Given the description of an element on the screen output the (x, y) to click on. 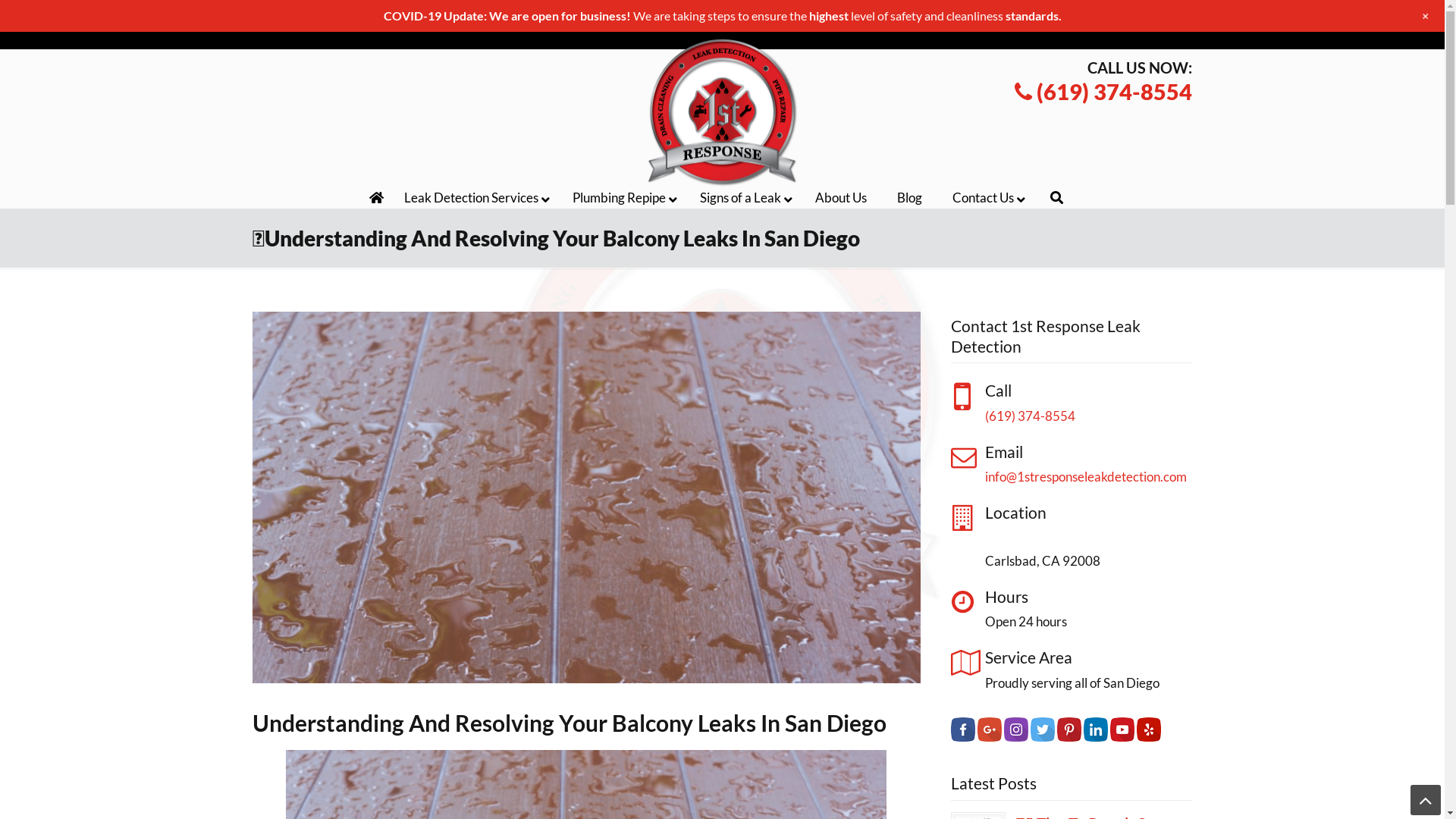
Yelp Element type: hover (1148, 729)
Request Service Element type: text (762, 16)
(619) 374-8554 Element type: text (1030, 415)
info@1stresponseleakdetection.com Element type: text (1085, 476)
YouTube Element type: hover (1153, 25)
Pinterest Element type: hover (1069, 729)
Yelp Element type: hover (1148, 736)
Pinterest Element type: hover (1125, 17)
Google Pages Element type: hover (1044, 25)
Google Pages Element type: hover (989, 736)
Twitter Element type: hover (1099, 25)
YouTube Element type: hover (1153, 17)
Plumbing Repipe Element type: text (620, 197)
Google Pages Element type: hover (1044, 17)
LinkedIn Element type: hover (1095, 729)
Instagram Element type: hover (1072, 17)
Twitter Element type: hover (1099, 17)
Pinterest Element type: hover (1125, 25)
Facebook Element type: hover (962, 736)
info@1stresponseleakdetection.com Element type: text (499, 16)
About Us Element type: text (840, 197)
Instagram Element type: hover (1016, 729)
Leak Detection Services Element type: text (473, 197)
Contact Us Element type: text (984, 197)
Twitter Element type: hover (1042, 729)
Blog Element type: text (909, 197)
Pinterest Element type: hover (1069, 736)
FAQs Element type: text (822, 16)
Facebook Element type: hover (1018, 17)
YouTube Element type: hover (1122, 729)
(619) 374-8554 Element type: text (1103, 91)
Yelp Element type: hover (1179, 17)
Facebook Element type: hover (962, 729)
(619) 374-8554 Element type: text (358, 16)
Yelp Element type: hover (1179, 25)
LinkedIn Element type: hover (1095, 736)
+ Element type: text (1425, 15)
Instagram Element type: hover (1016, 736)
Home Element type: hover (376, 197)
Signs of a Leak Element type: text (742, 197)
Twitter Element type: hover (1042, 736)
Service Areas Element type: text (683, 16)
Instagram Element type: hover (1072, 25)
Google Pages Element type: hover (989, 729)
YouTube Element type: hover (1122, 736)
Facebook Element type: hover (1018, 25)
